Given the description of an element on the screen output the (x, y) to click on. 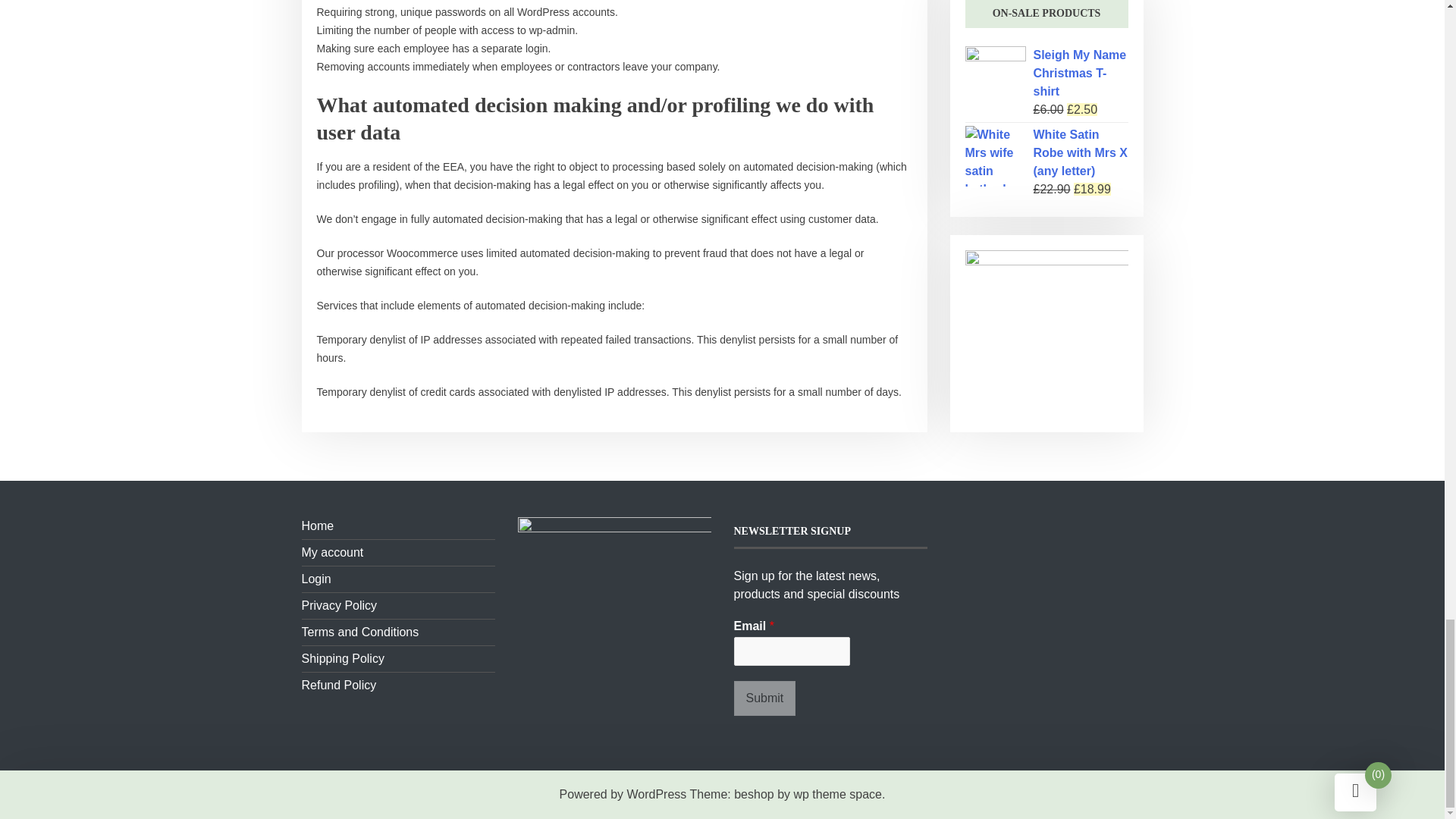
Submit (764, 697)
Shipping Policy (342, 658)
My account (332, 552)
wp theme space (837, 794)
Terms and Conditions (360, 631)
Login (316, 578)
Powered by WordPress (623, 794)
Privacy Policy (339, 604)
Refund Policy (339, 684)
Home (317, 525)
